Given the description of an element on the screen output the (x, y) to click on. 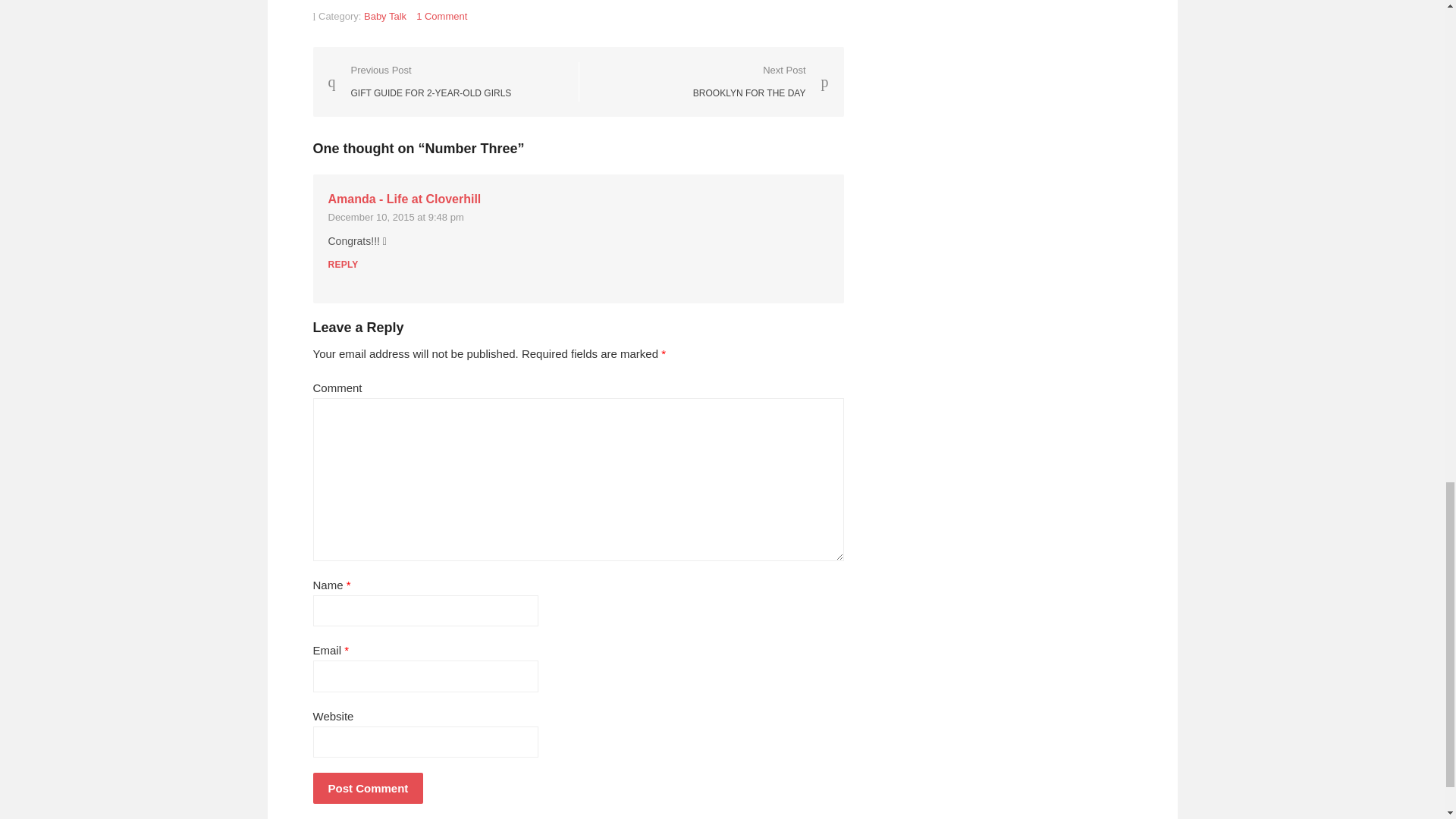
REPLY (342, 264)
Baby Talk (760, 81)
Amanda - Life at Cloverhill (385, 16)
December 10, 2015 at 9:48 pm (419, 81)
1 Comment (403, 198)
Post Comment (395, 216)
Post Comment (441, 16)
